Given the description of an element on the screen output the (x, y) to click on. 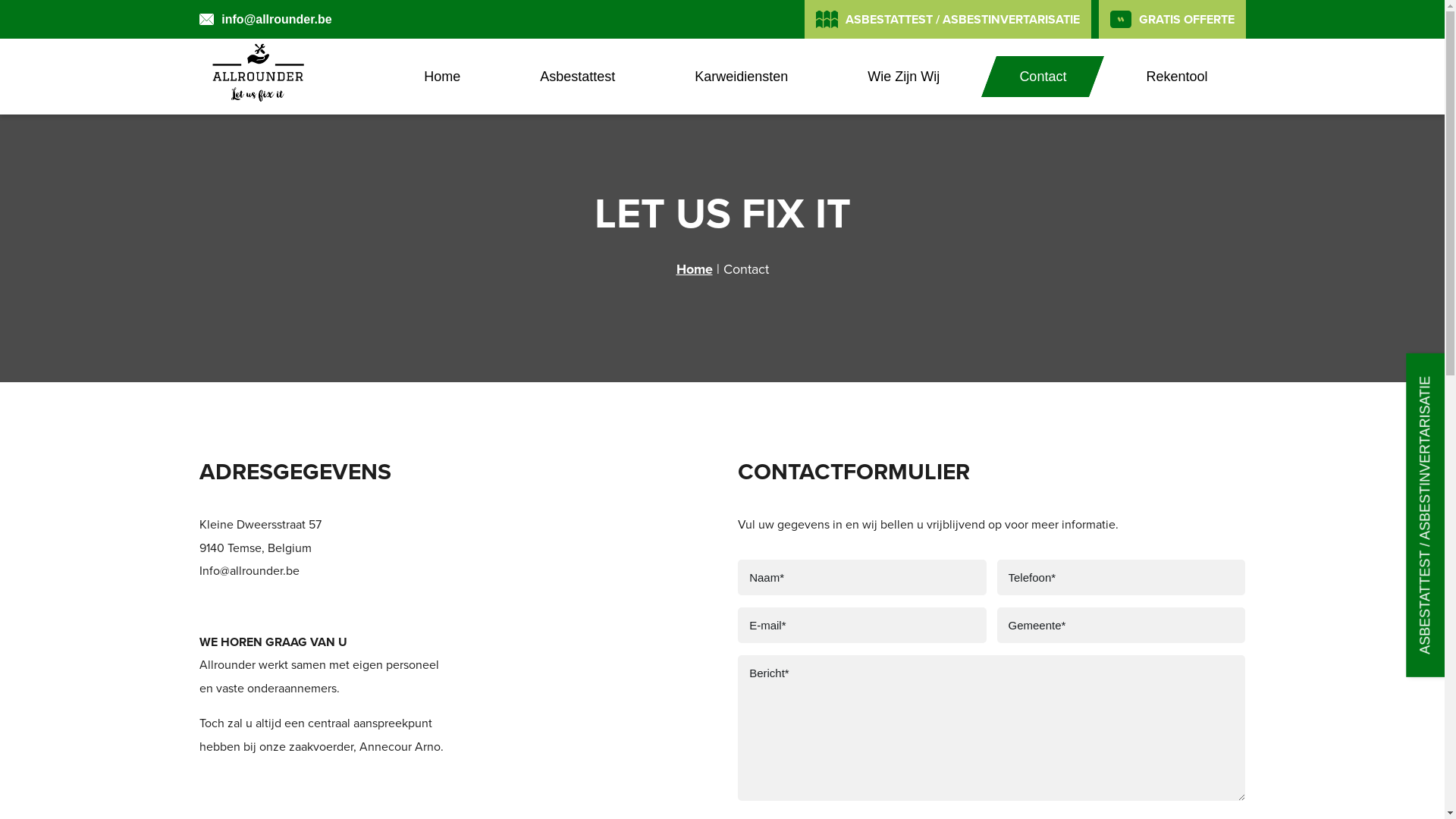
Home Element type: text (442, 76)
Rekentool Element type: text (1176, 76)
info@allrounder.be Element type: text (264, 19)
ASBESTATTEST / ASBESTINVERTARISATIE Element type: text (947, 19)
Karweidiensten Element type: text (740, 76)
Contact Element type: text (1042, 76)
Asbestattest Element type: text (577, 76)
GRATIS OFFERTE Element type: text (1171, 19)
Home Element type: text (694, 269)
Wie Zijn Wij Element type: text (903, 76)
